Given the description of an element on the screen output the (x, y) to click on. 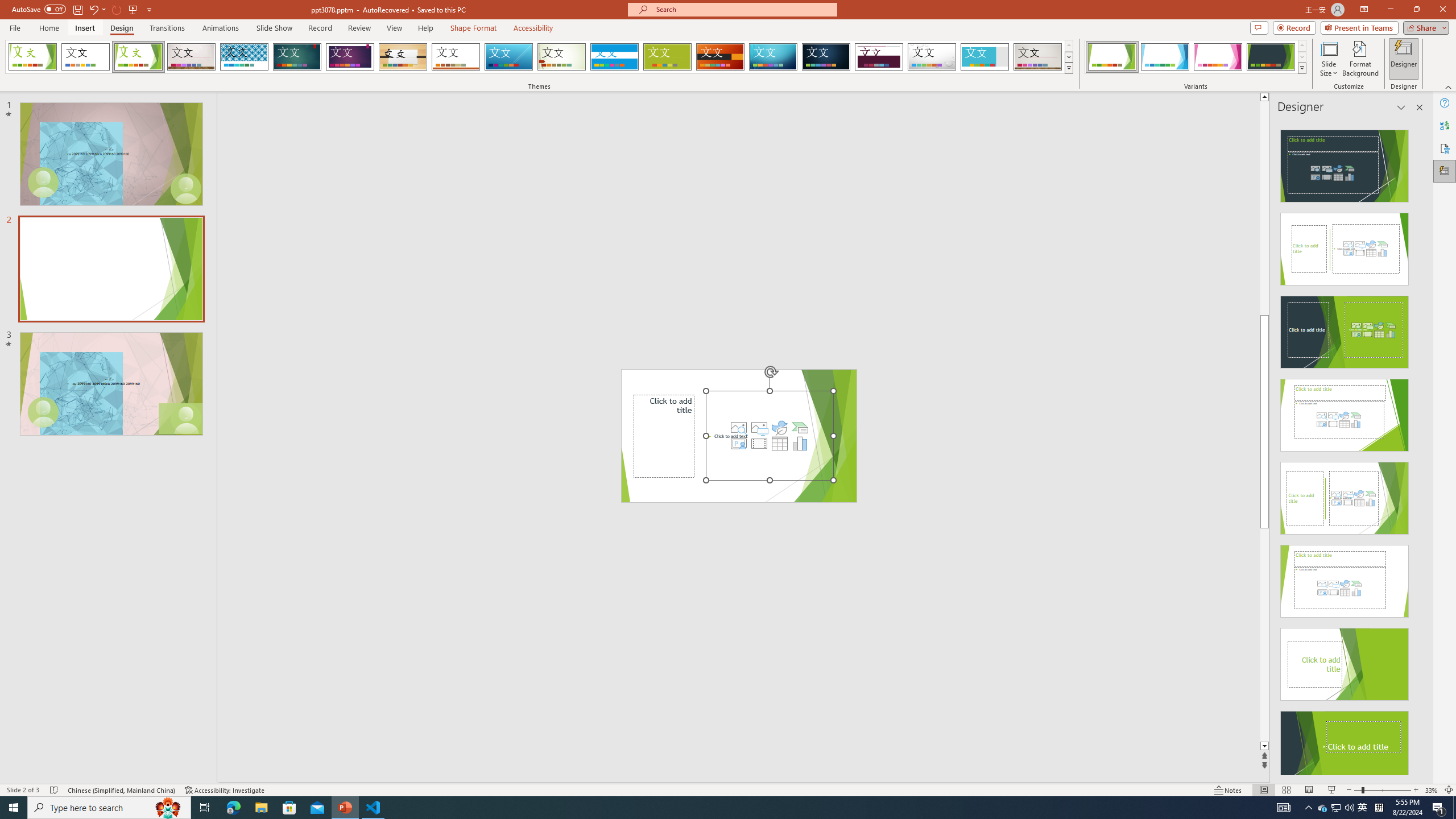
Insert Cameo (738, 443)
Themes (1068, 67)
Insert Video (758, 443)
Facet Variant 2 (1164, 56)
Class: NetUIScrollBar (1418, 447)
Zoom 33% (1431, 790)
Insert an Icon (779, 427)
